Given the description of an element on the screen output the (x, y) to click on. 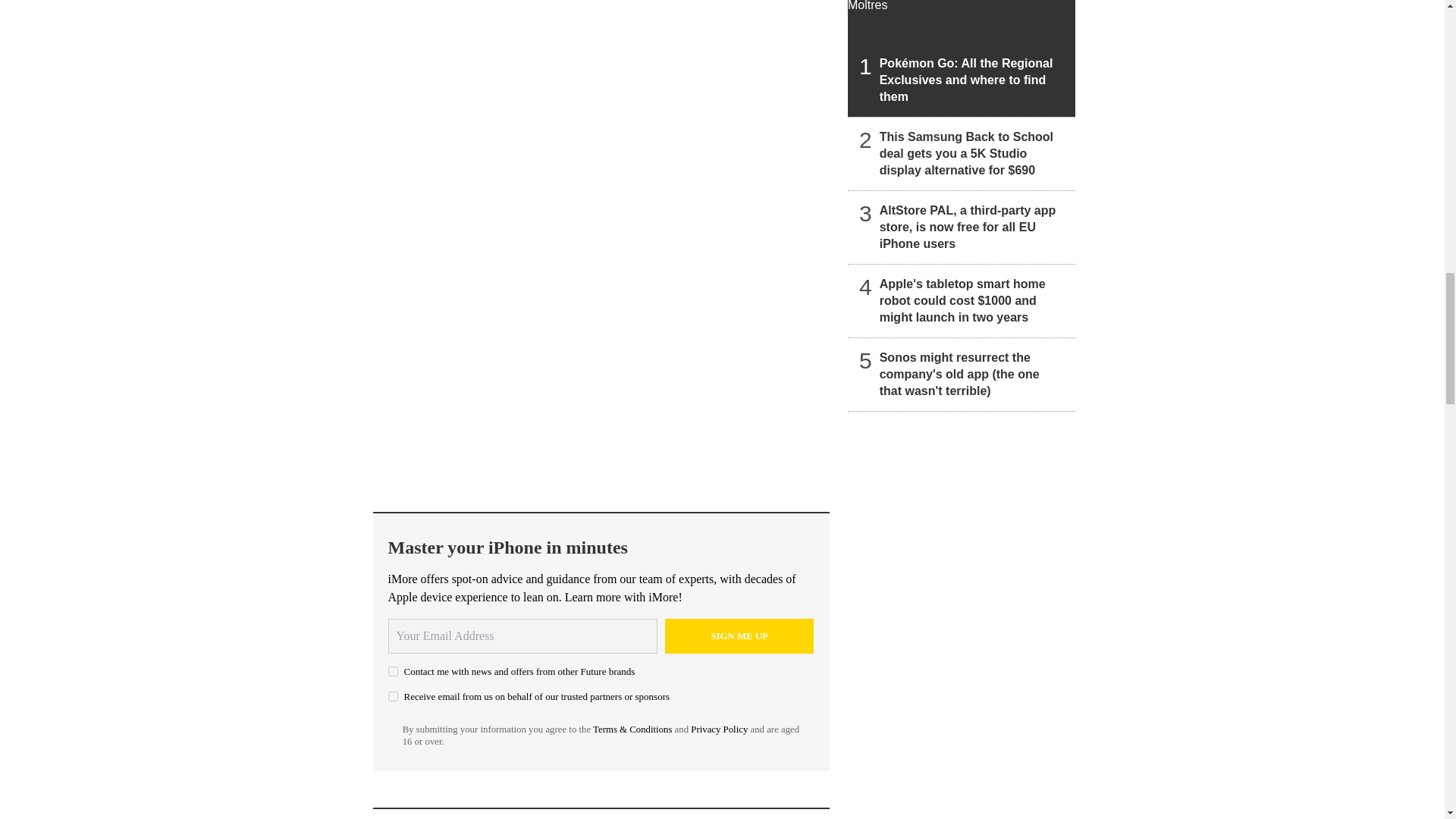
on (392, 671)
on (392, 696)
Sign me up (739, 636)
